Given the description of an element on the screen output the (x, y) to click on. 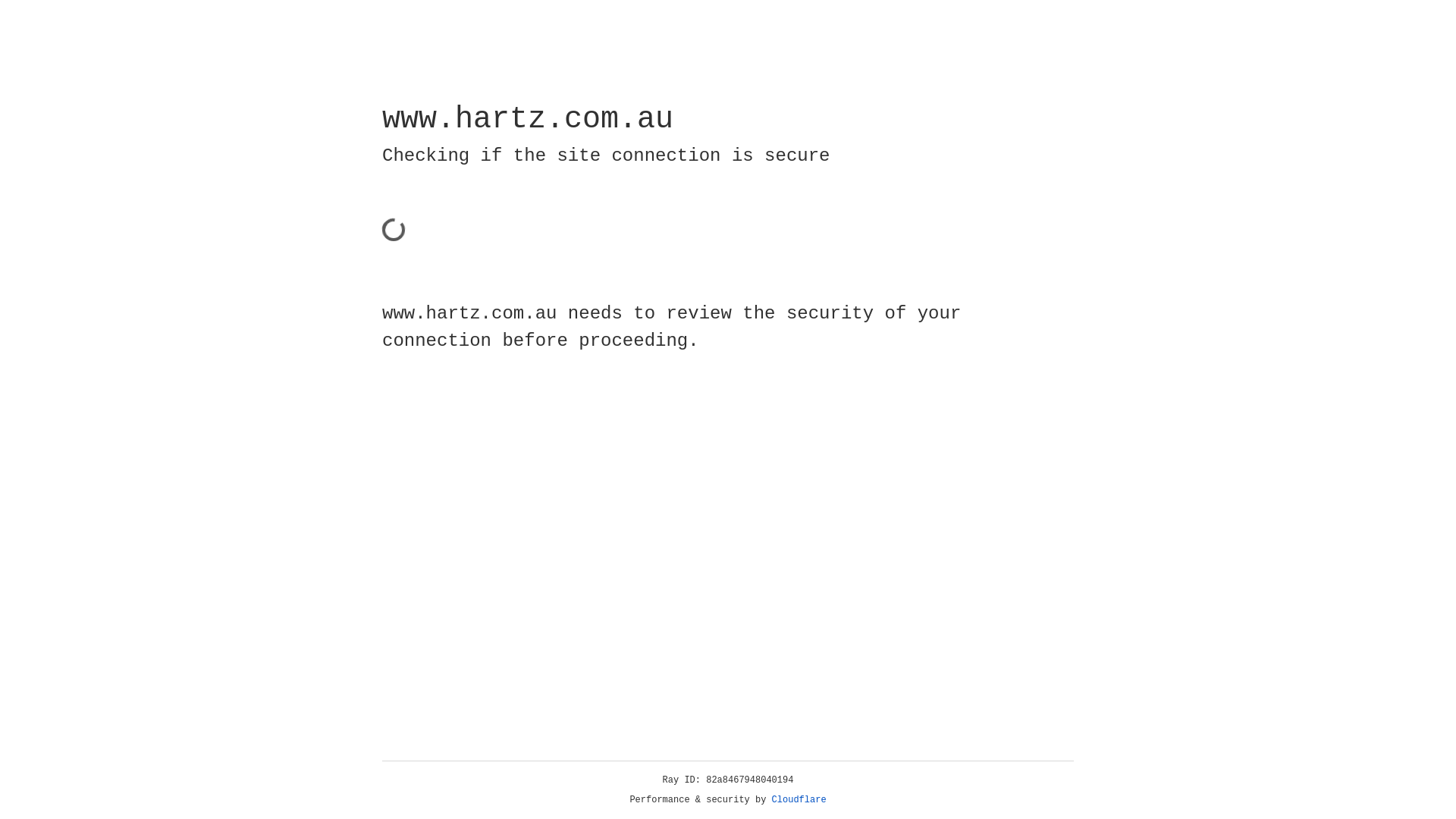
Cloudflare Element type: text (798, 799)
